Given the description of an element on the screen output the (x, y) to click on. 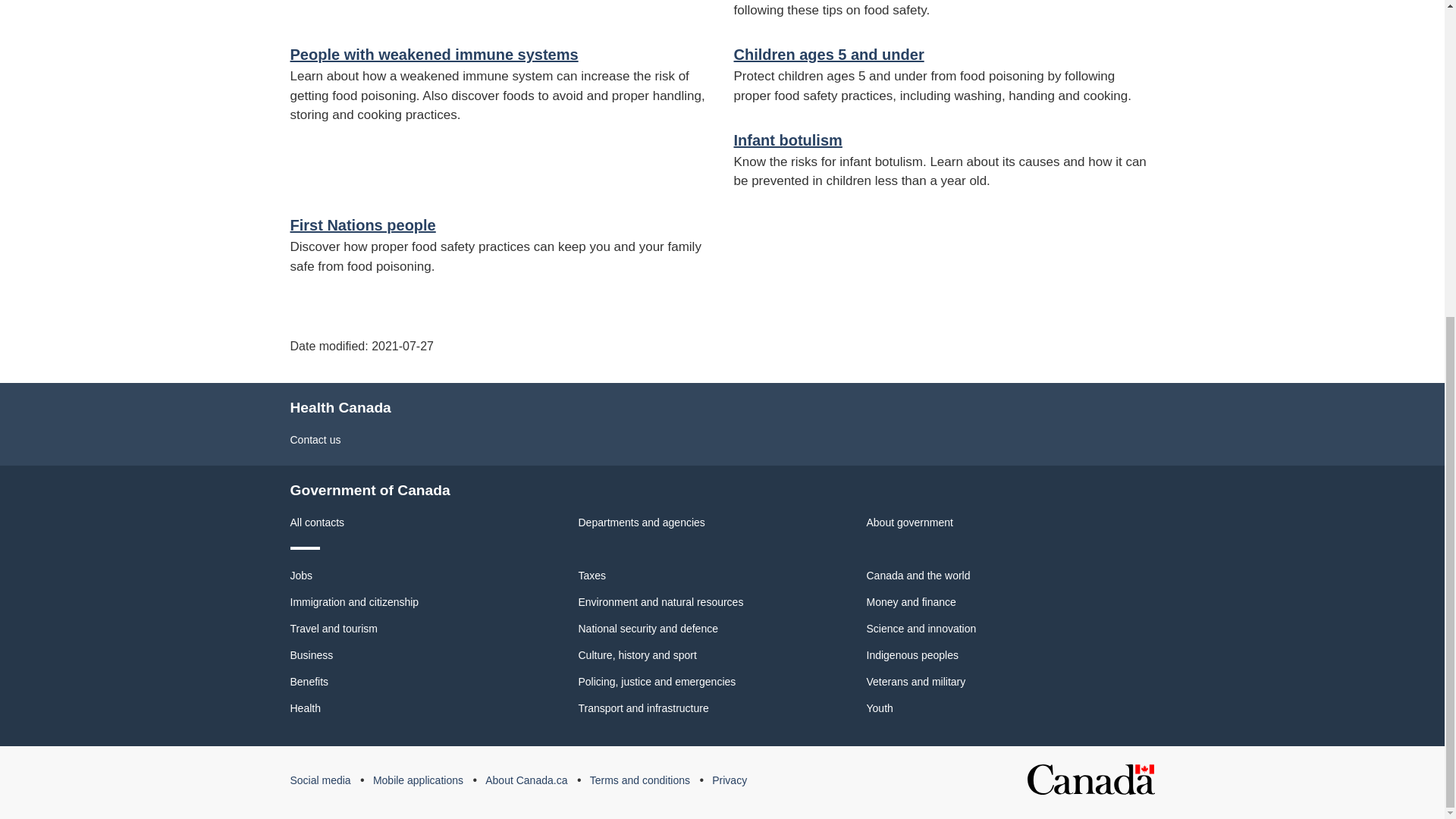
Departments and agencies (641, 522)
Children ages 5 and under (828, 54)
Contact us (314, 439)
Jobs (301, 575)
Travel and tourism (333, 628)
All contacts (316, 522)
People with weakened immune systems (433, 54)
Immigration and citizenship (354, 602)
Business (311, 654)
Infant botulism (788, 139)
